Given the description of an element on the screen output the (x, y) to click on. 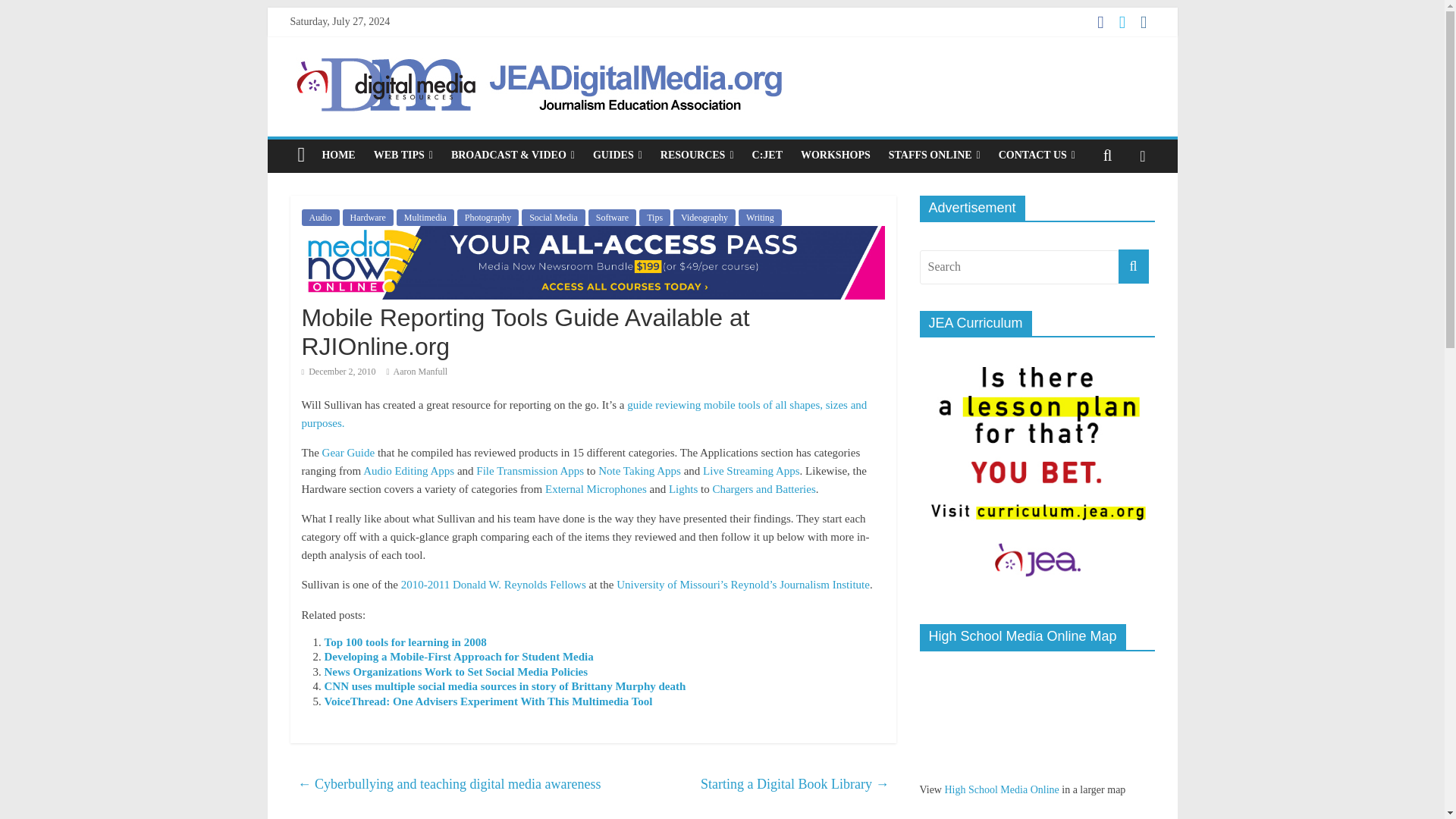
GUIDES (616, 155)
HOME (338, 155)
News Organizations Work to Set Social Media Policies (456, 671)
10:20 am (338, 371)
Top 100 tools for learning in 2008 (405, 642)
Aaron Manfull (419, 371)
WEB TIPS (403, 155)
Developing a Mobile-First Approach for Student Media (459, 656)
RESOURCES (696, 155)
